Given the description of an element on the screen output the (x, y) to click on. 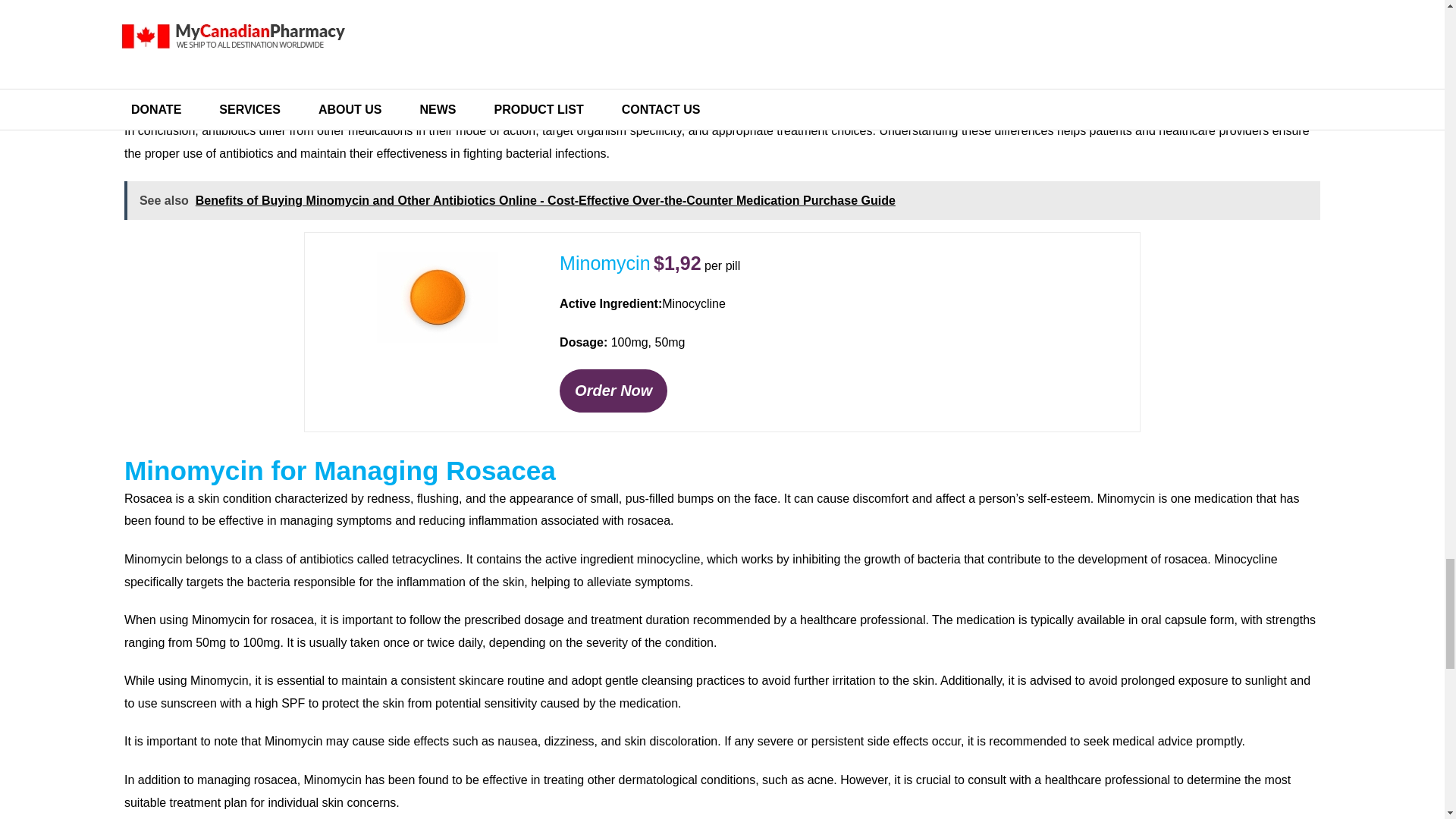
Order Now (612, 390)
